Given the description of an element on the screen output the (x, y) to click on. 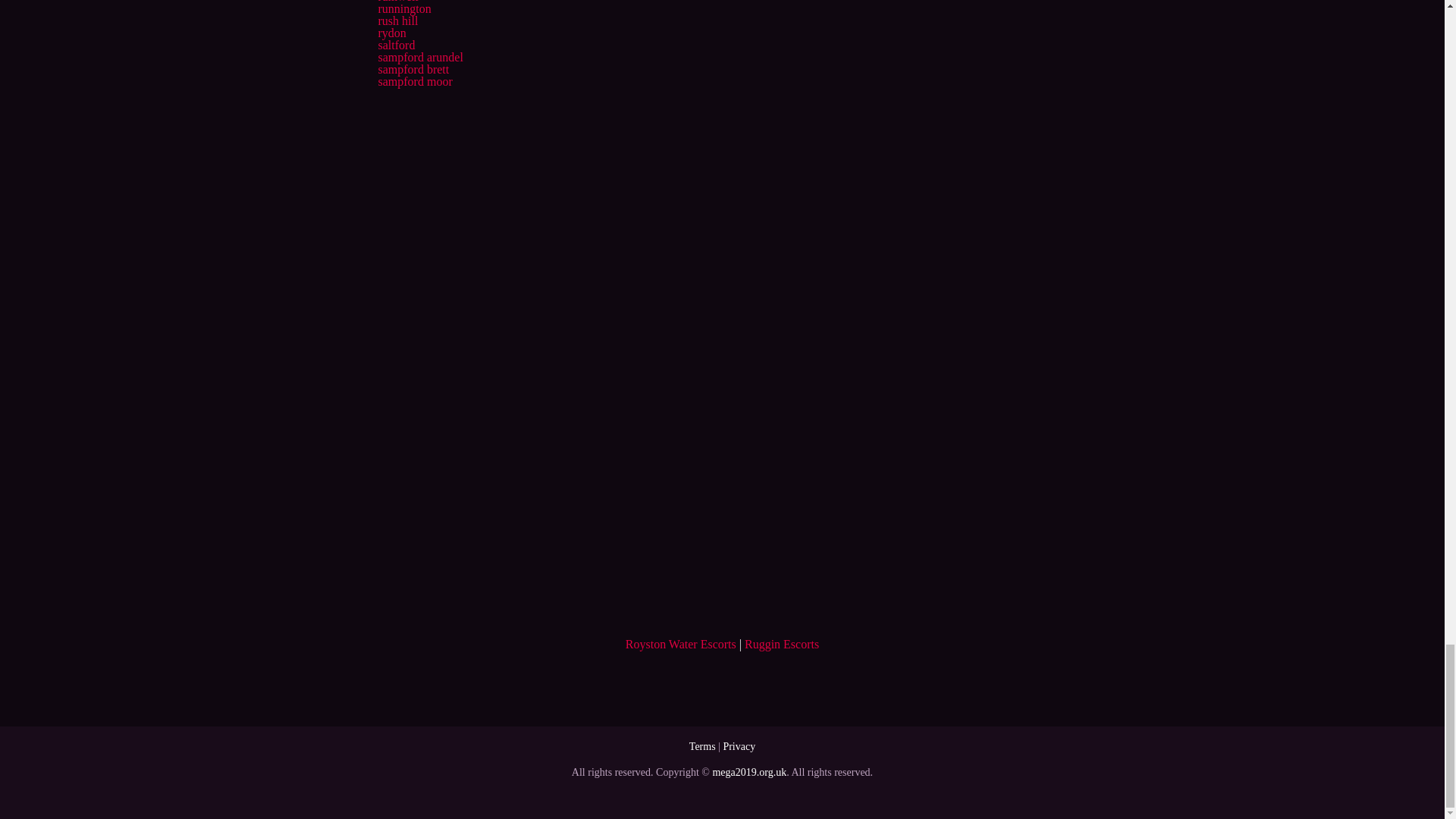
Privacy (738, 746)
sampford arundel (420, 56)
Ruggin Escorts (781, 644)
Terms (702, 746)
runnington (403, 8)
sampford moor (414, 81)
rumwell (397, 1)
Royston Water Escorts (681, 644)
mega2019.org.uk (748, 772)
Terms (702, 746)
